Given the description of an element on the screen output the (x, y) to click on. 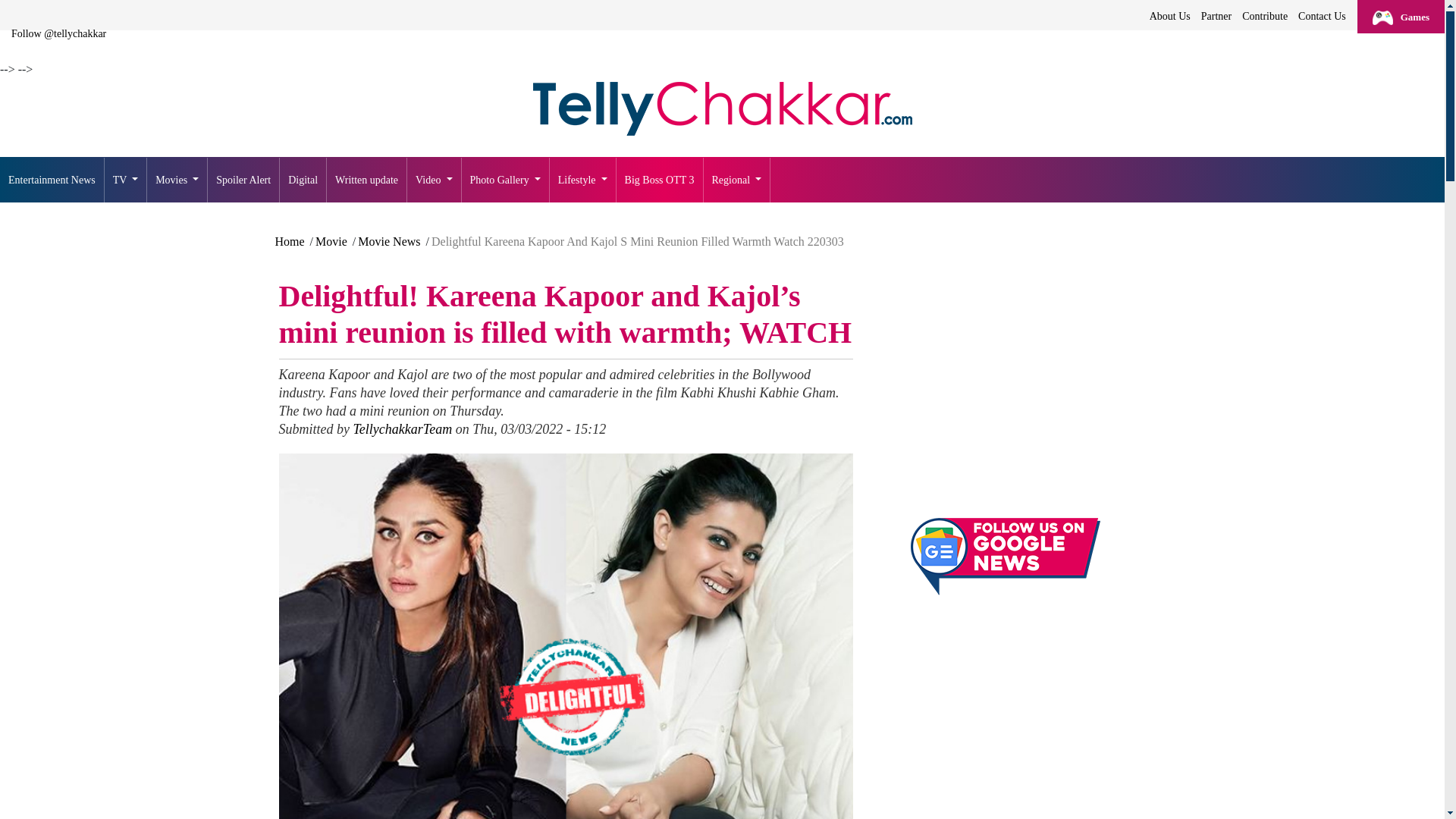
Return to the front Page (52, 180)
Lifestyle (582, 180)
Video (434, 180)
Entertainment News (52, 180)
Games (1400, 17)
Home (721, 108)
Contact Us (1321, 16)
Digital (302, 180)
Spoiler Alert (243, 180)
Tellychakkar Google News Follow (1004, 556)
Written update (366, 180)
Photo Gallery (505, 180)
View user profile. (401, 428)
Partner (1215, 16)
Contribute (1265, 16)
